Given the description of an element on the screen output the (x, y) to click on. 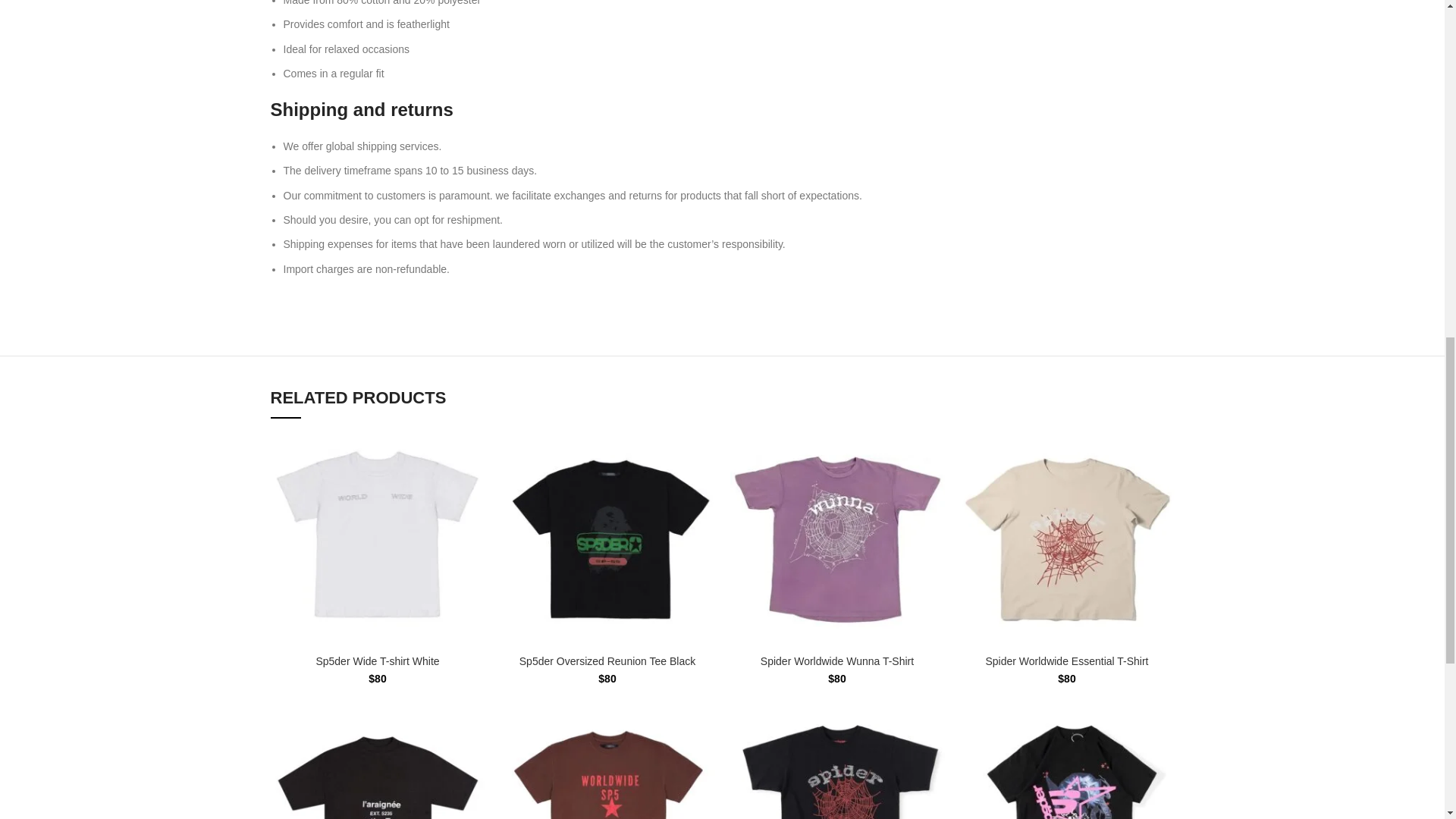
Sp5der Wide T-shirt White (377, 661)
Spider Worldwide Essential T-Shirt (1066, 661)
Sp5der Oversized Reunion Tee Black (607, 661)
Spider Worldwide Wunna T-Shirt (837, 661)
